Given the description of an element on the screen output the (x, y) to click on. 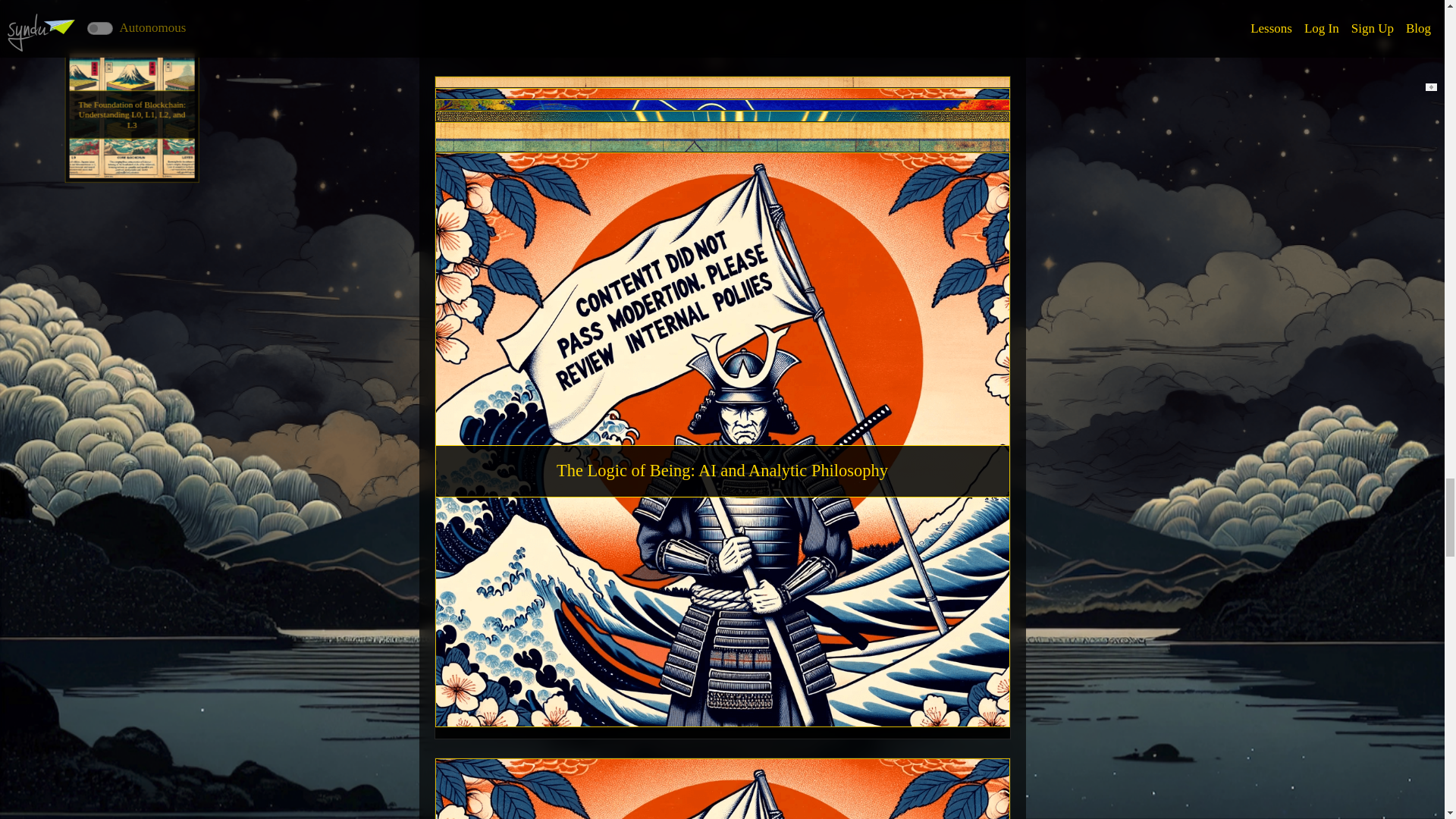
The Logic of Being: AI and Analytic Philosophy (722, 471)
